Given the description of an element on the screen output the (x, y) to click on. 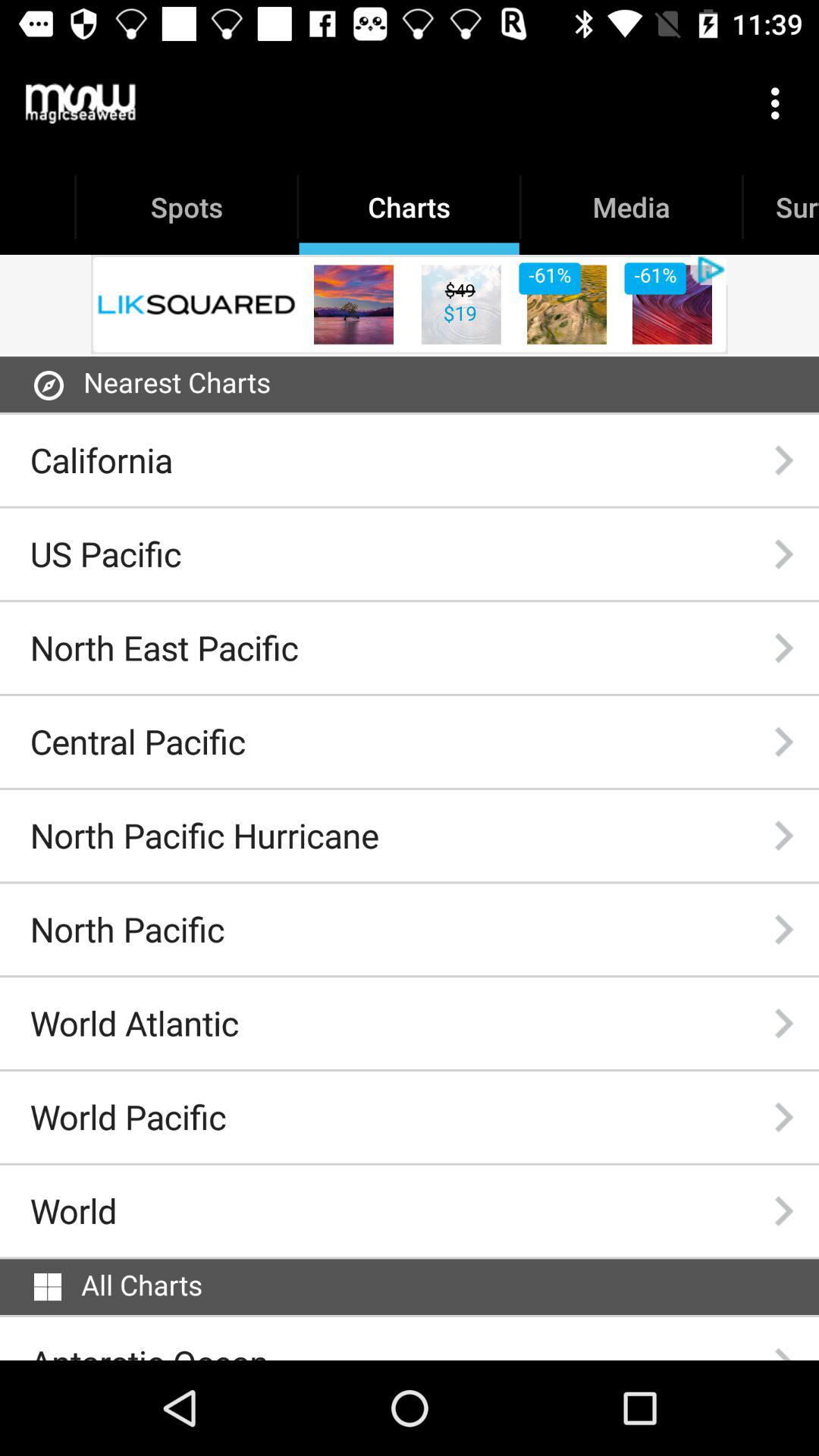
turn off the item above california item (48, 385)
